Given the description of an element on the screen output the (x, y) to click on. 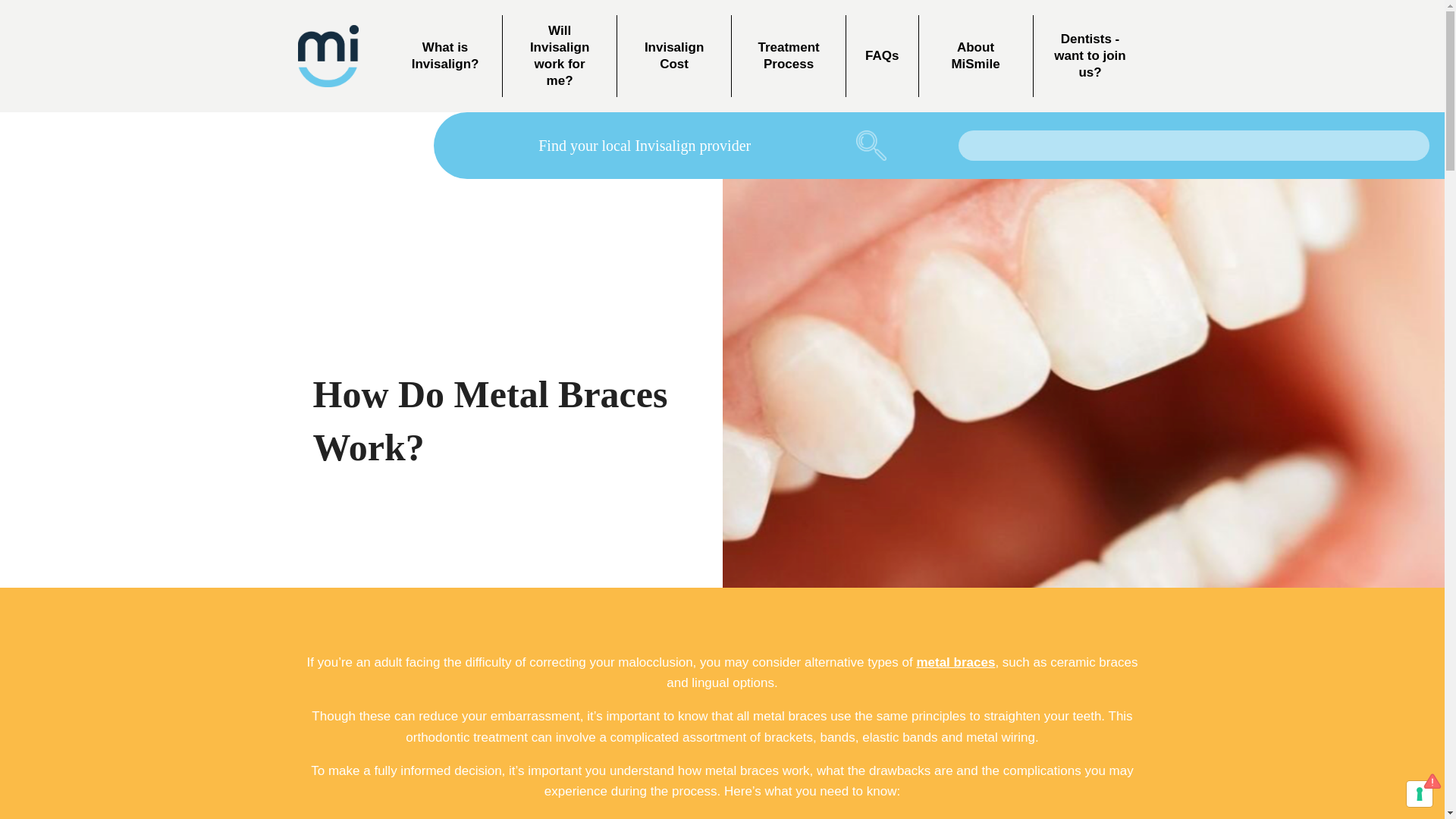
FAQs (881, 56)
metal braces (954, 662)
What is Invisalign? (445, 55)
Invisalign Cost (673, 55)
Dentists - want to join us? (1089, 55)
About MiSmile (975, 55)
Will Invisalign work for me? (558, 56)
Treatment Process (788, 55)
